Given the description of an element on the screen output the (x, y) to click on. 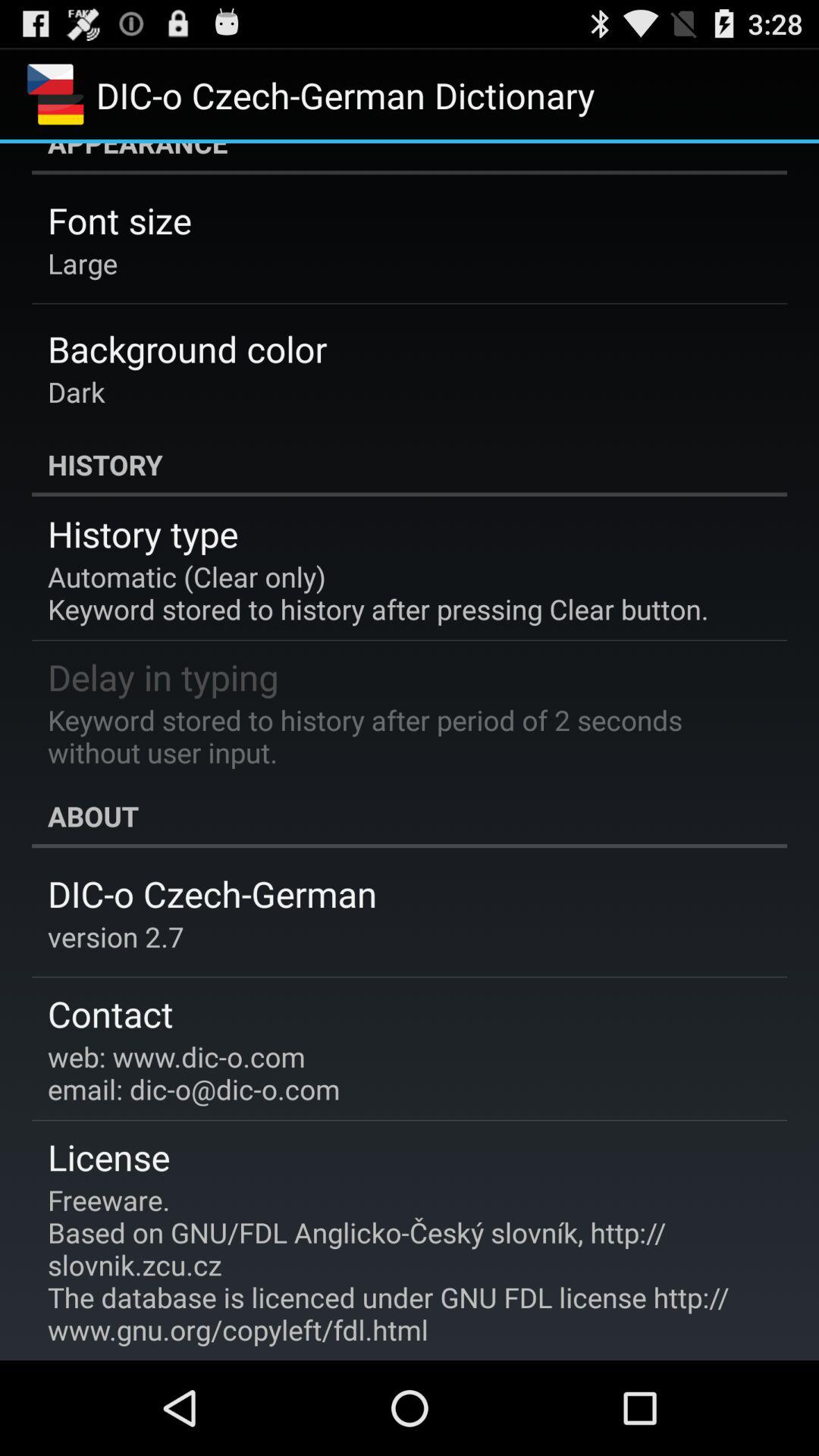
flip until delay in typing item (162, 676)
